Given the description of an element on the screen output the (x, y) to click on. 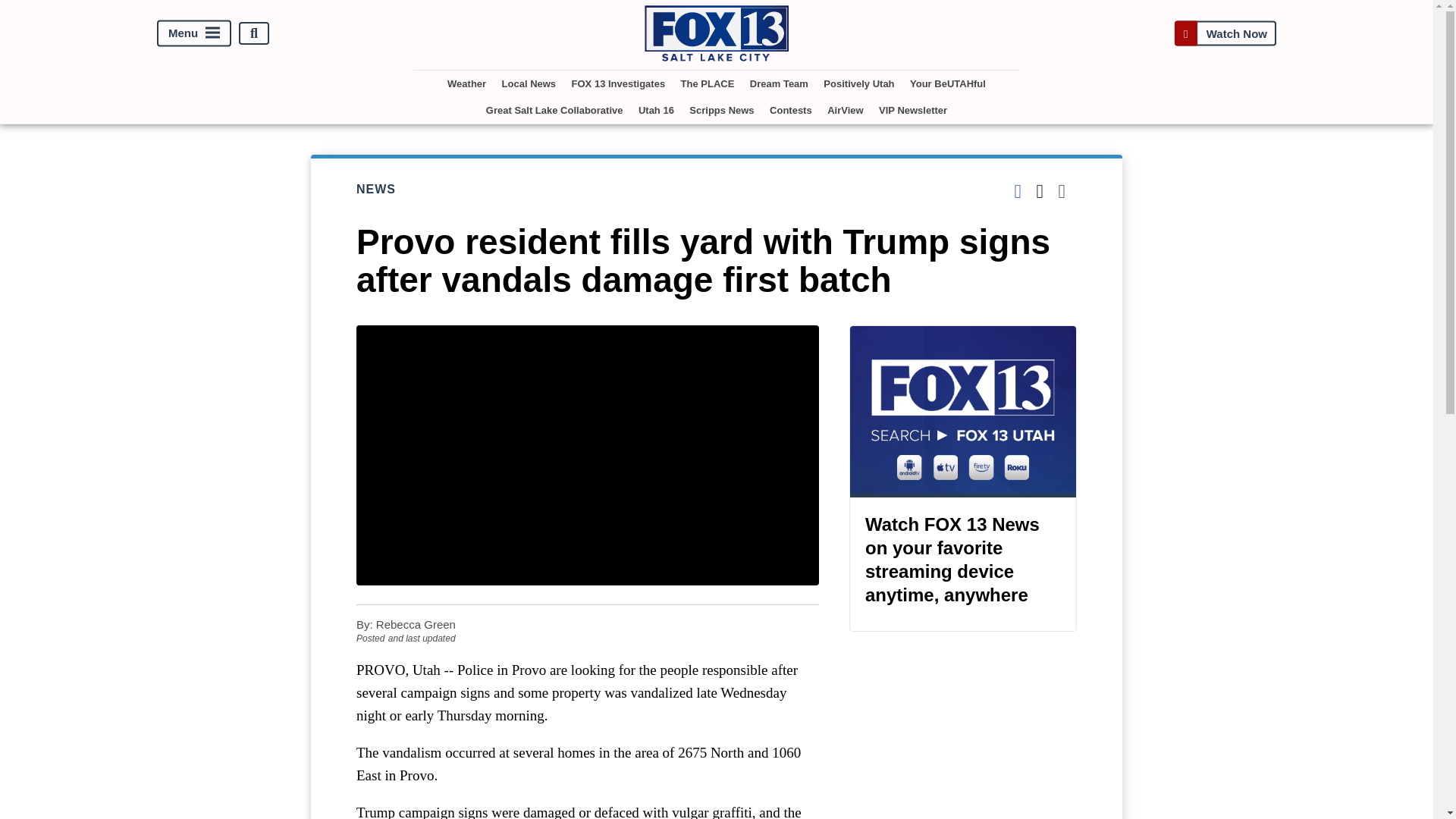
Menu (194, 33)
Watch Now (1224, 33)
